Given the description of an element on the screen output the (x, y) to click on. 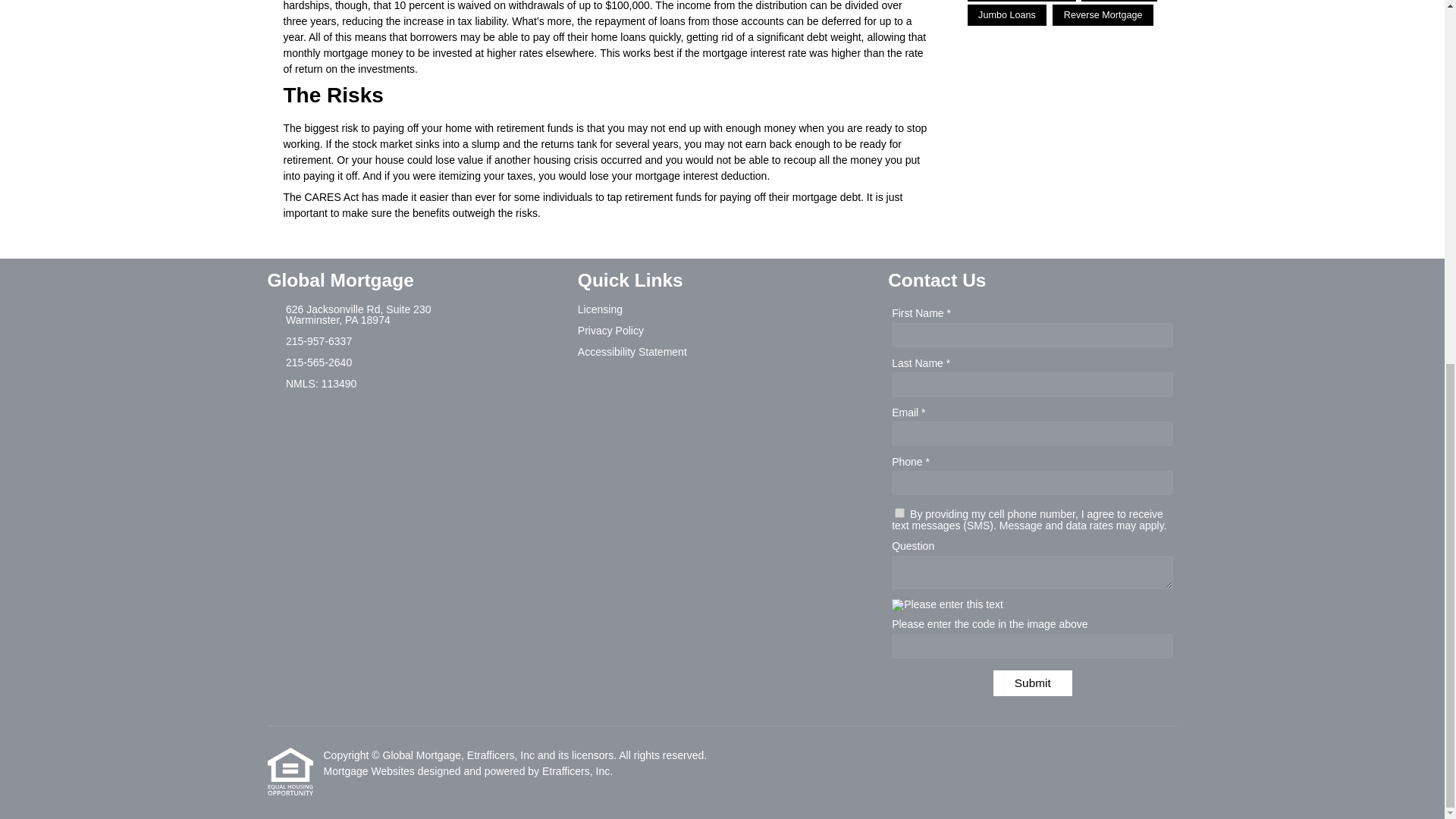
yes (899, 512)
